Given the description of an element on the screen output the (x, y) to click on. 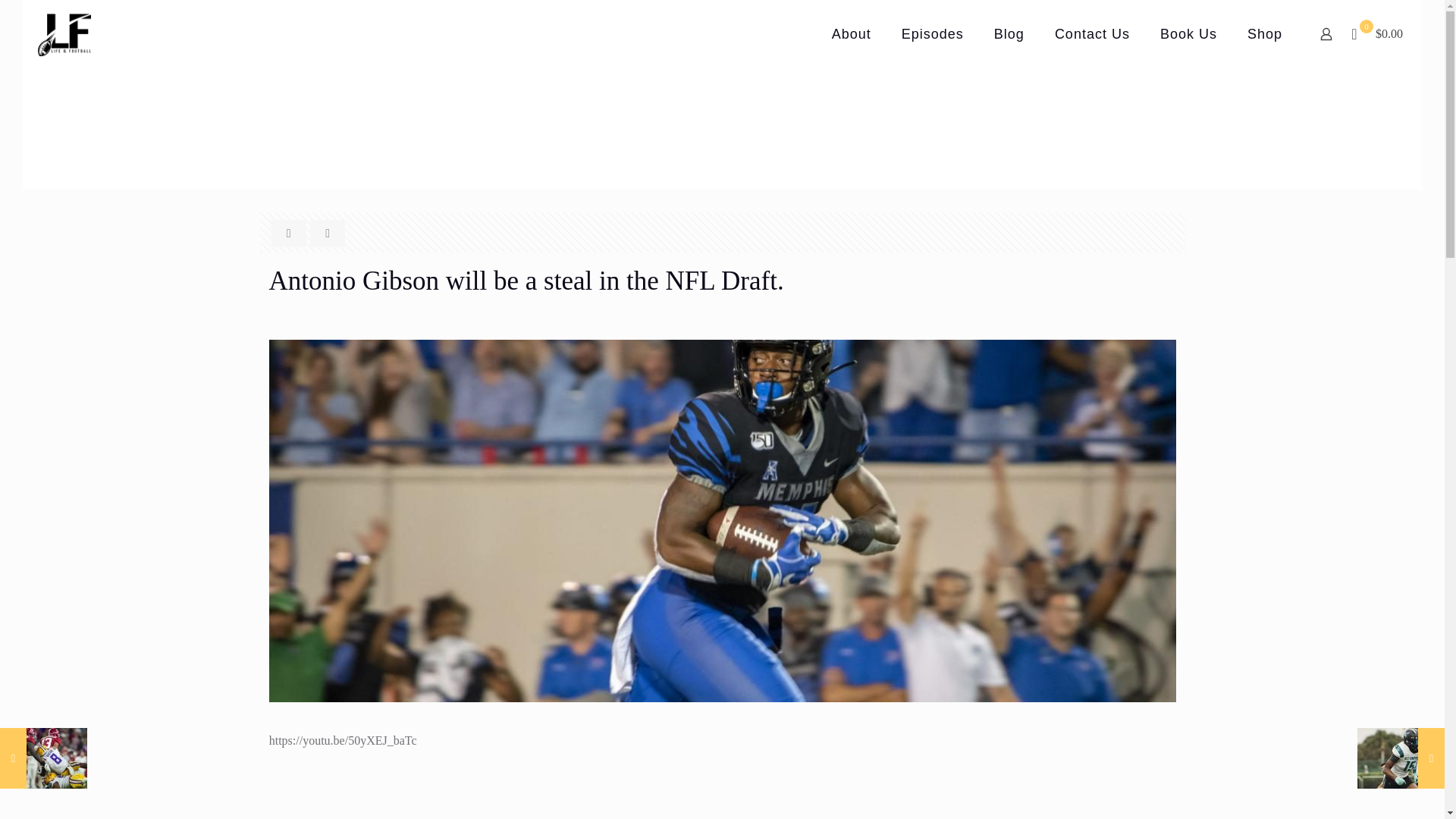
Shop (1264, 33)
Contact Us (1091, 33)
Book Us (1187, 33)
About (851, 33)
Episodes (932, 33)
